Given the description of an element on the screen output the (x, y) to click on. 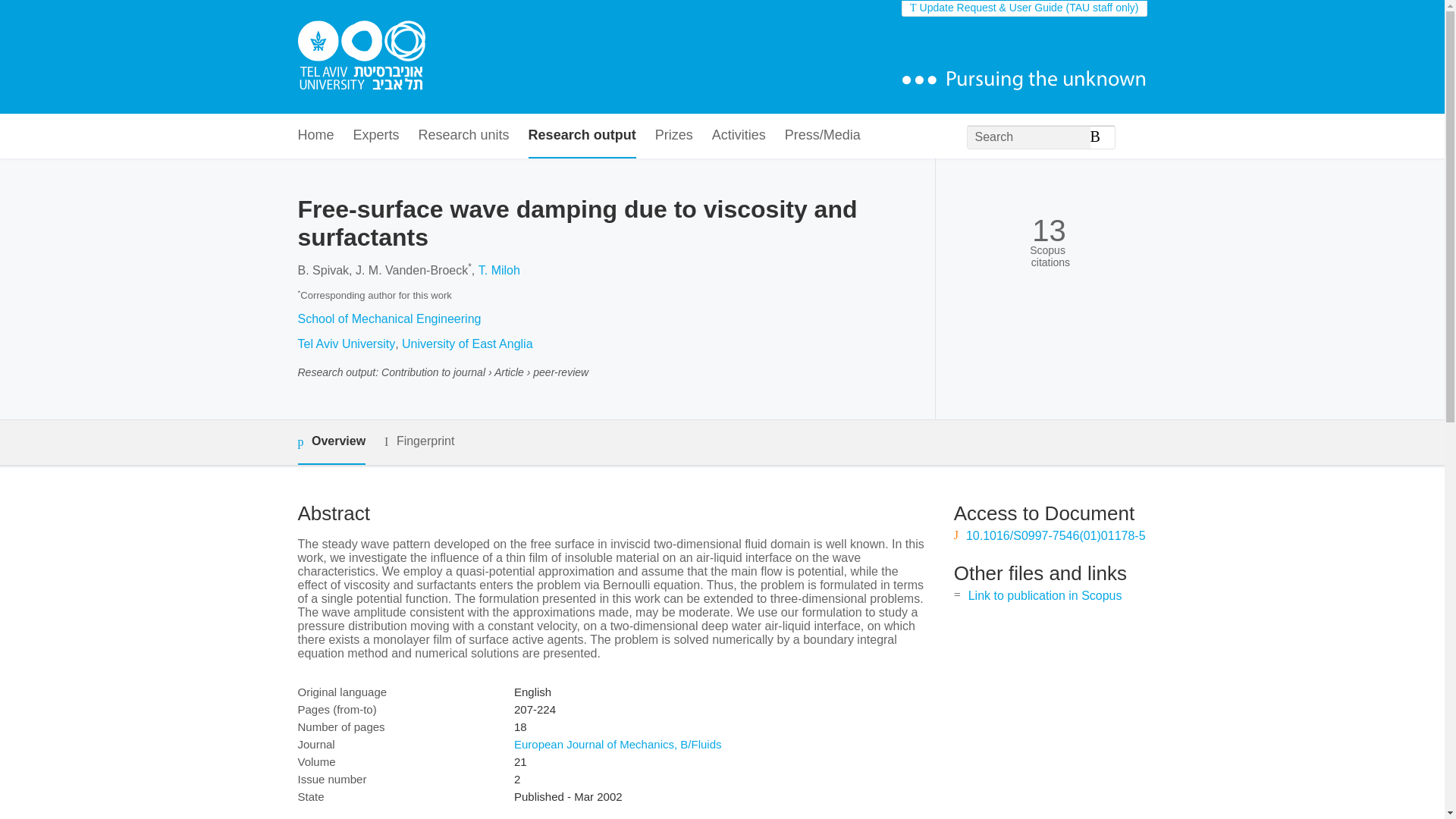
Experts (375, 135)
Research units (464, 135)
School of Mechanical Engineering (388, 318)
Overview (331, 442)
Fingerprint (419, 441)
Activities (738, 135)
University of East Anglia (466, 343)
Tel Aviv University Home (361, 56)
Link to publication in Scopus (1045, 594)
Research output (582, 135)
T. Miloh (499, 269)
Tel Aviv University (345, 343)
